Given the description of an element on the screen output the (x, y) to click on. 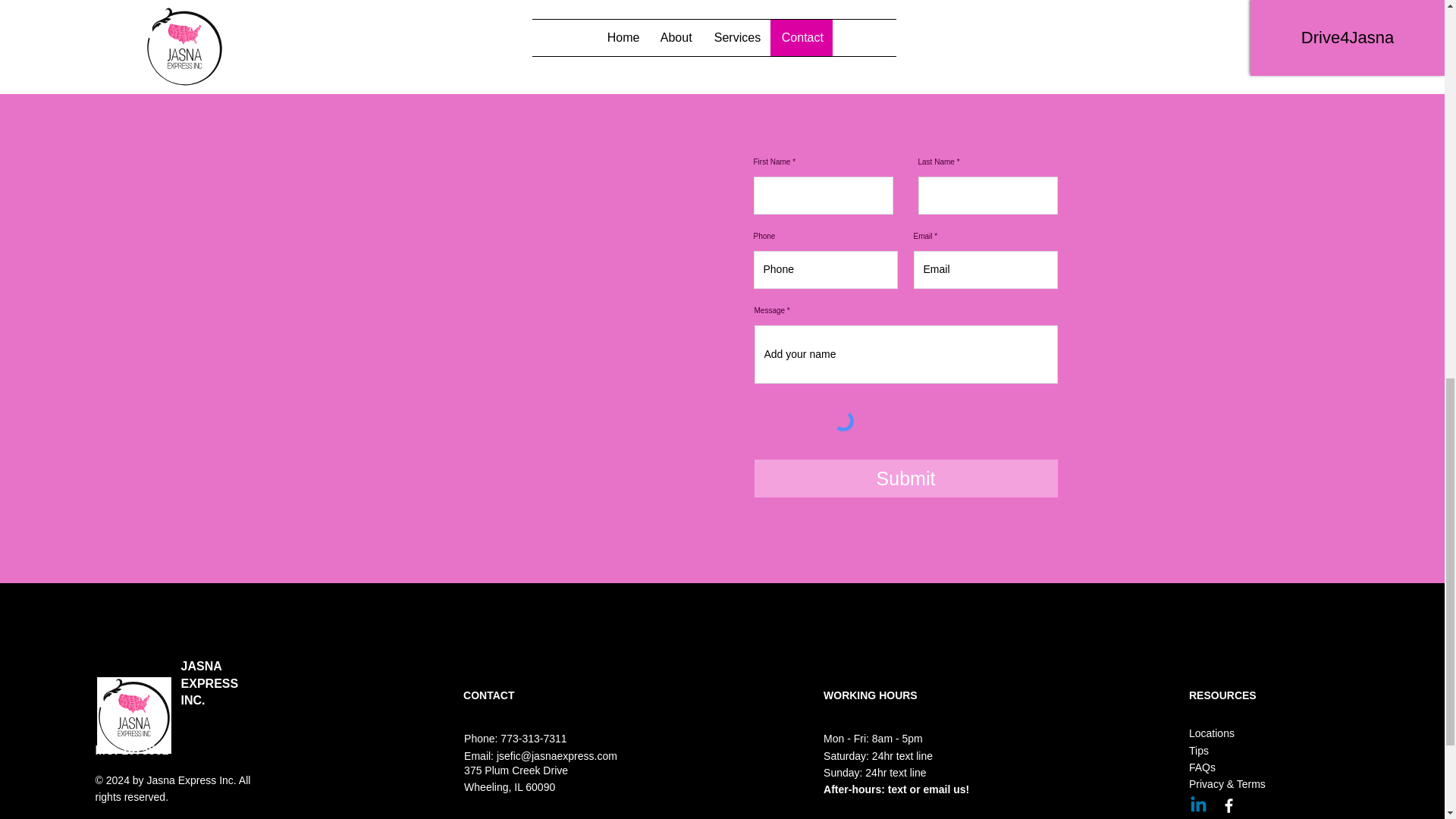
Locations (1211, 733)
FAQs (1202, 767)
JASNA (201, 666)
Submit (905, 478)
Tips (1198, 750)
